Given the description of an element on the screen output the (x, y) to click on. 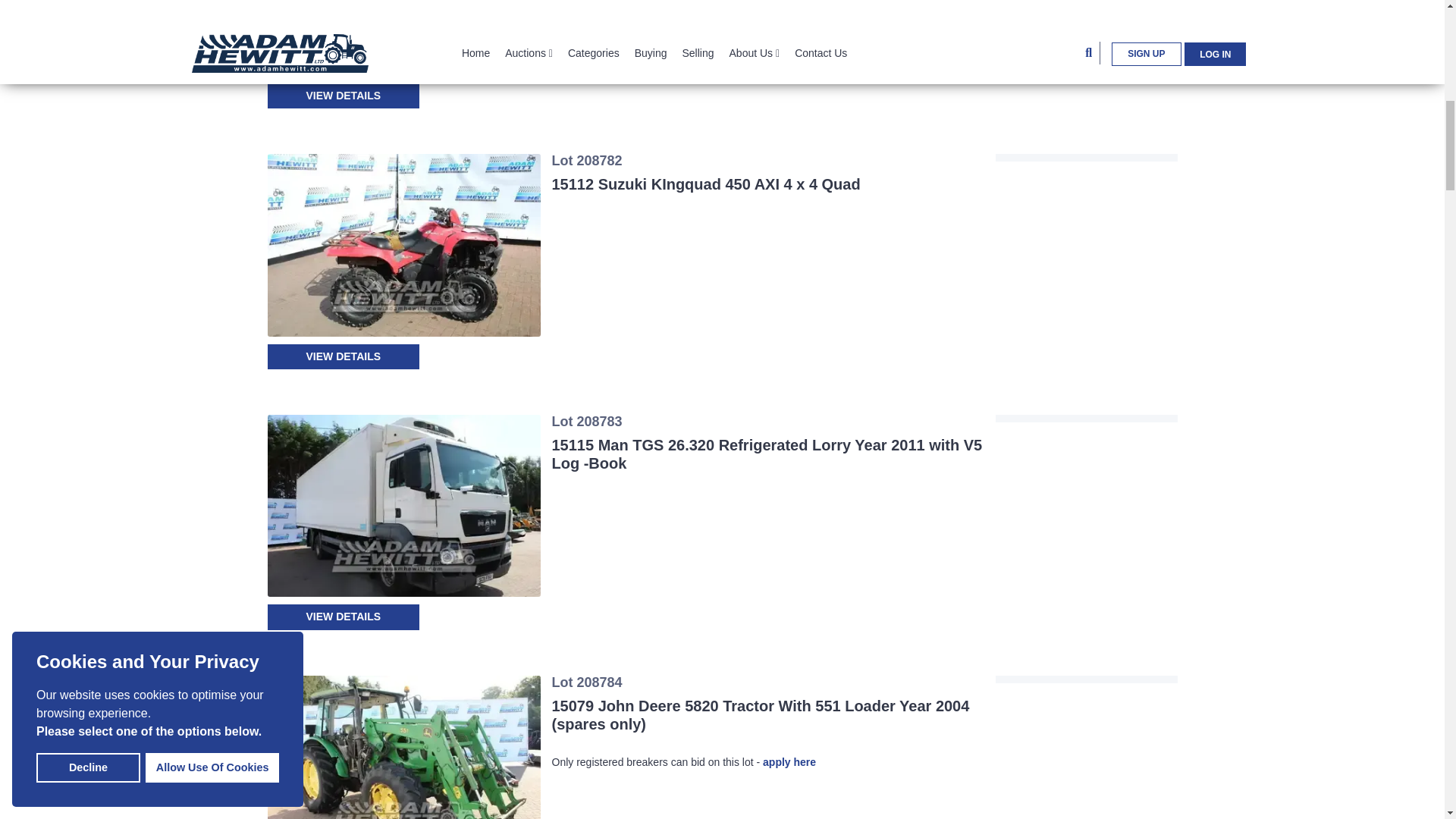
Login (1085, 55)
VIEW DETAILS (342, 356)
Login (1085, 316)
VIEW DETAILS (342, 616)
Login (1085, 577)
VIEW DETAILS (342, 95)
apply here (788, 761)
